Given the description of an element on the screen output the (x, y) to click on. 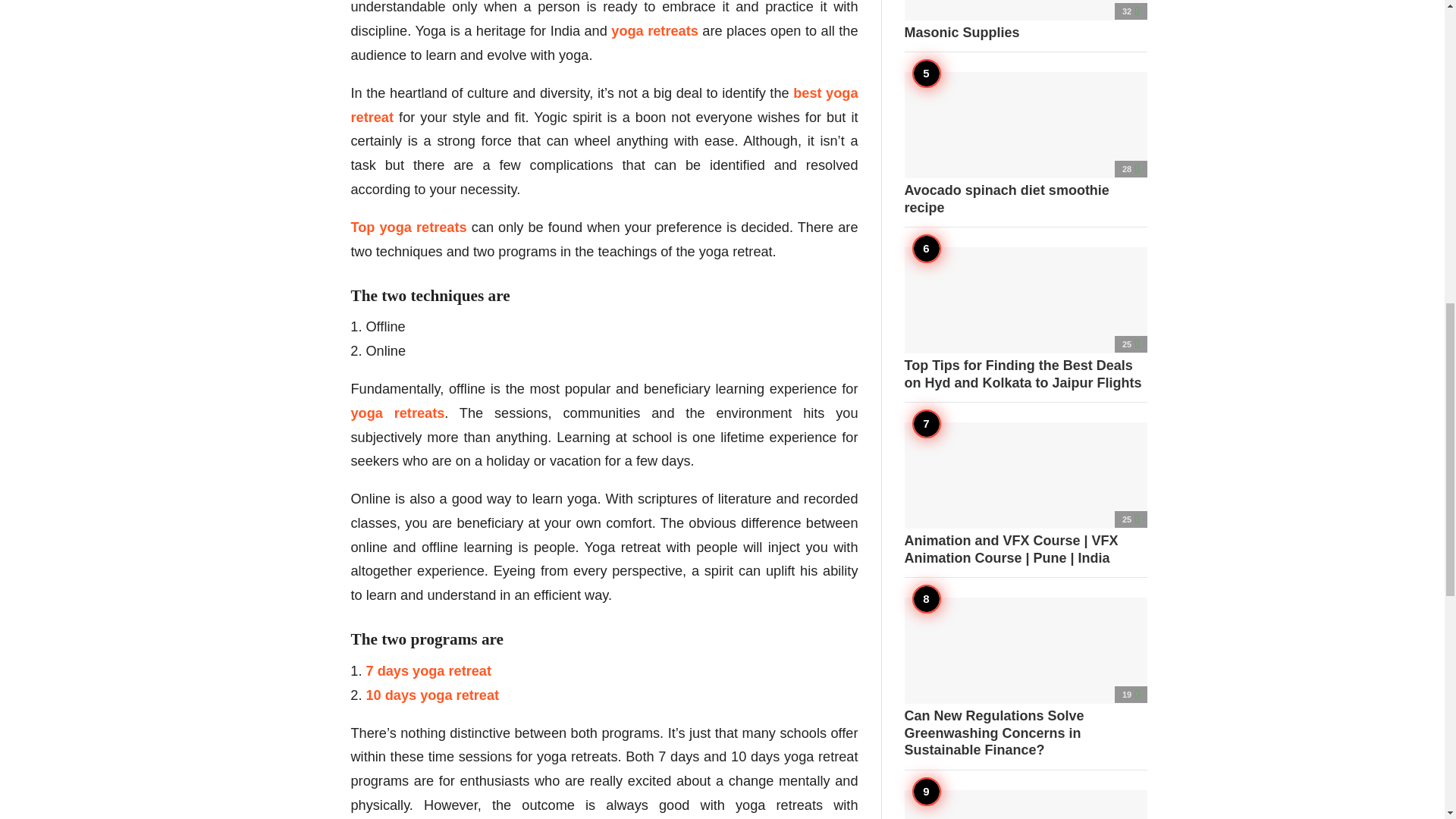
10 meetups about nexus real estate you should attend (1025, 804)
Masonic Supplies (1025, 20)
Avocado spinach diet smoothie recipe (1025, 144)
